Given the description of an element on the screen output the (x, y) to click on. 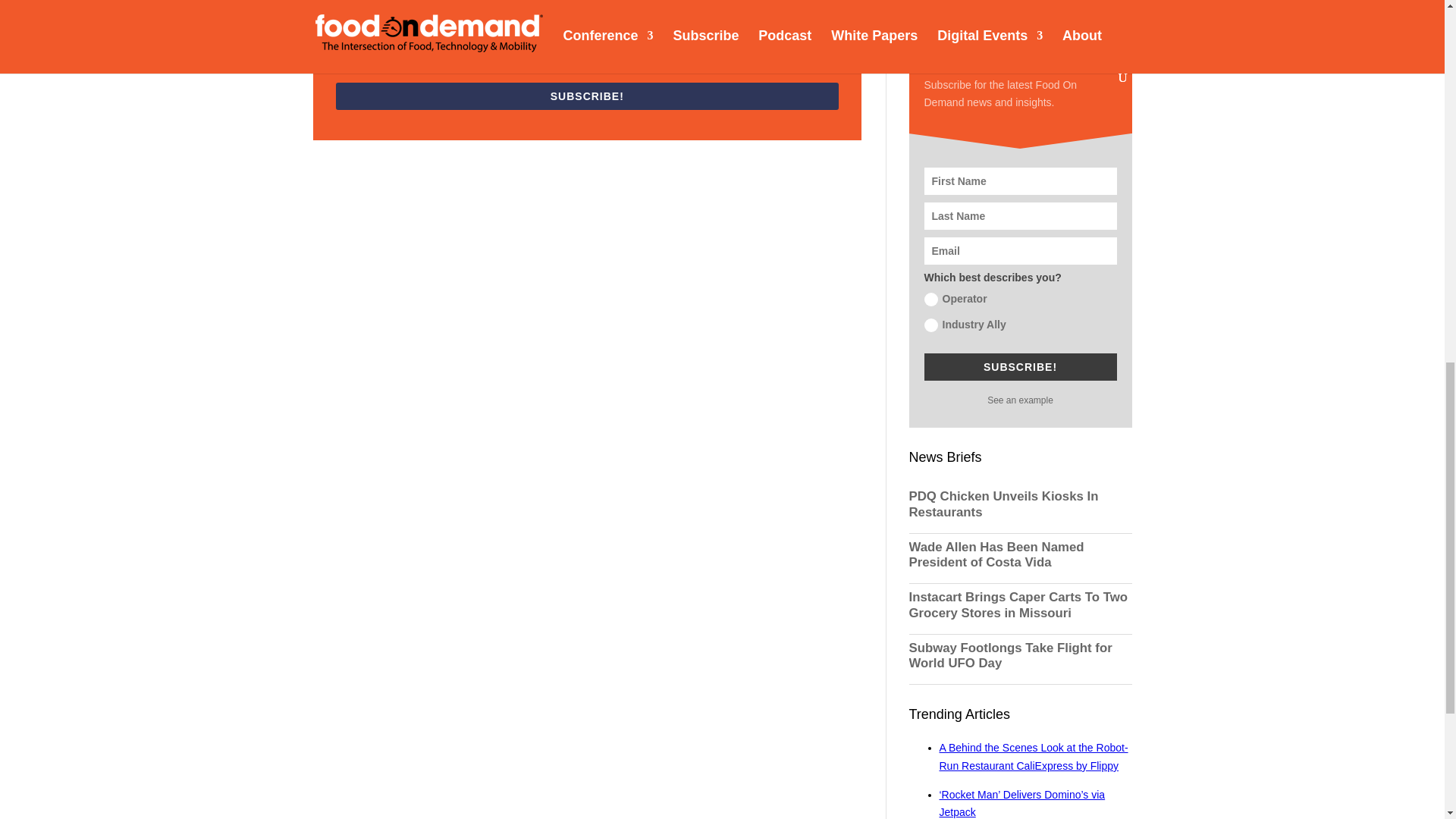
SUBSCRIBE! (586, 95)
Subway Footlongs Take Flight for World UFO Day (1019, 655)
PDQ Chicken Unveils Kiosks In Restaurants (1019, 503)
Wade Allen Has Been Named President of Costa Vida (1019, 554)
SUBSCRIBE! (1019, 366)
See an example (1019, 399)
